Given the description of an element on the screen output the (x, y) to click on. 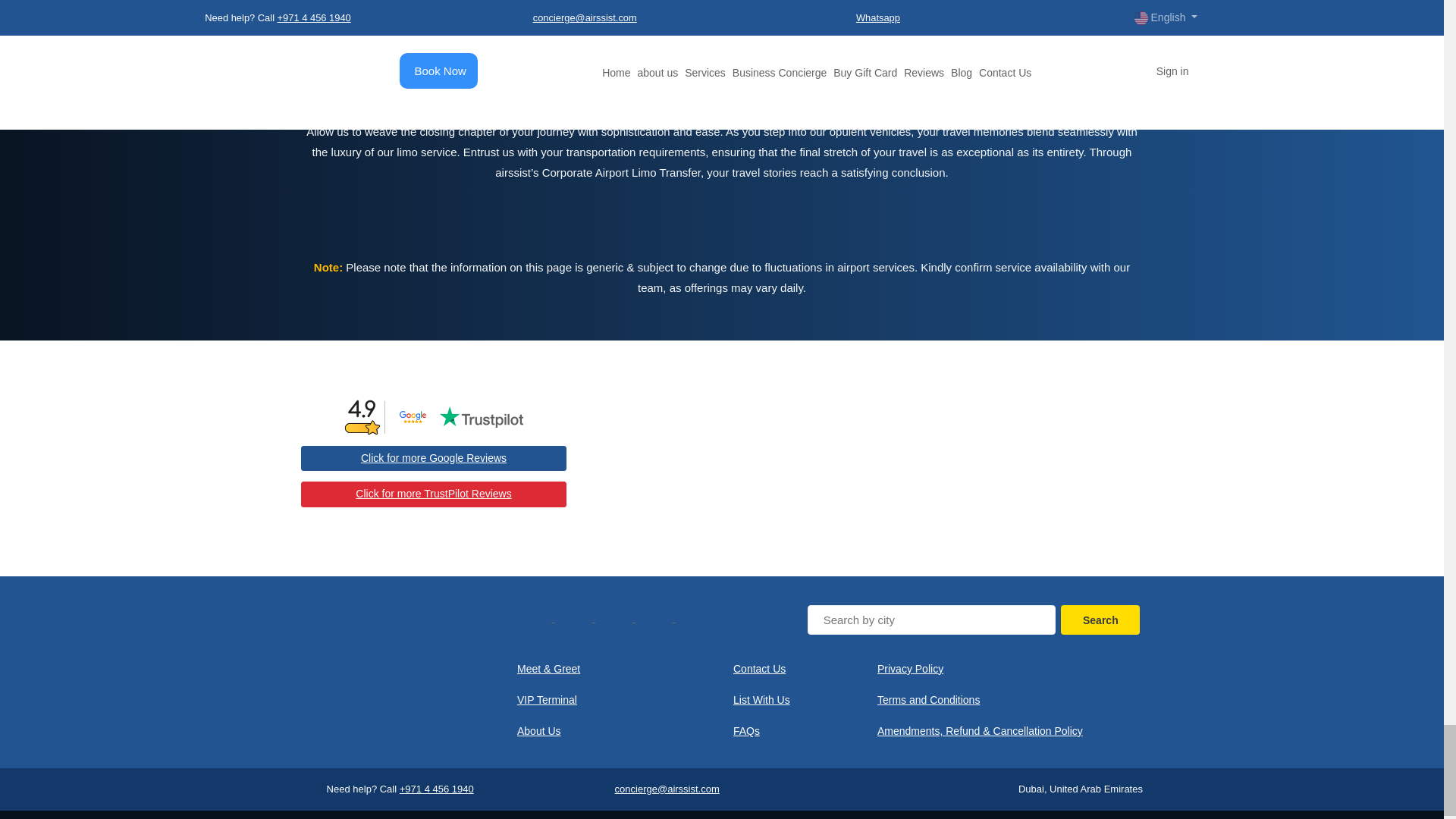
Search (1100, 619)
